Given the description of an element on the screen output the (x, y) to click on. 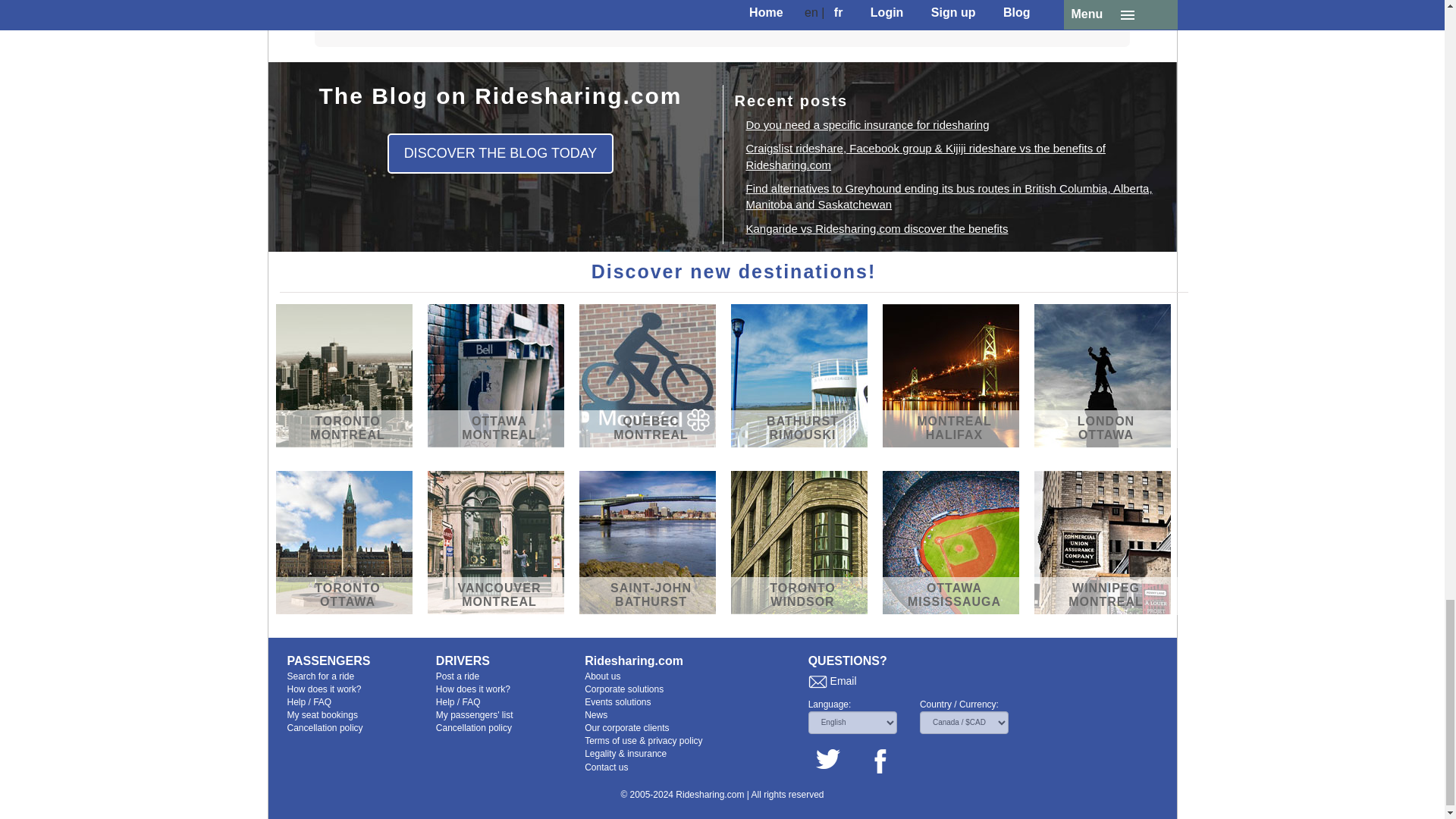
Kangaride vs Ridesharing.com discover the benefits (877, 228)
Do you need a specific insurance for ridesharing (867, 124)
DISCOVER THE BLOG TODAY (500, 153)
